Given the description of an element on the screen output the (x, y) to click on. 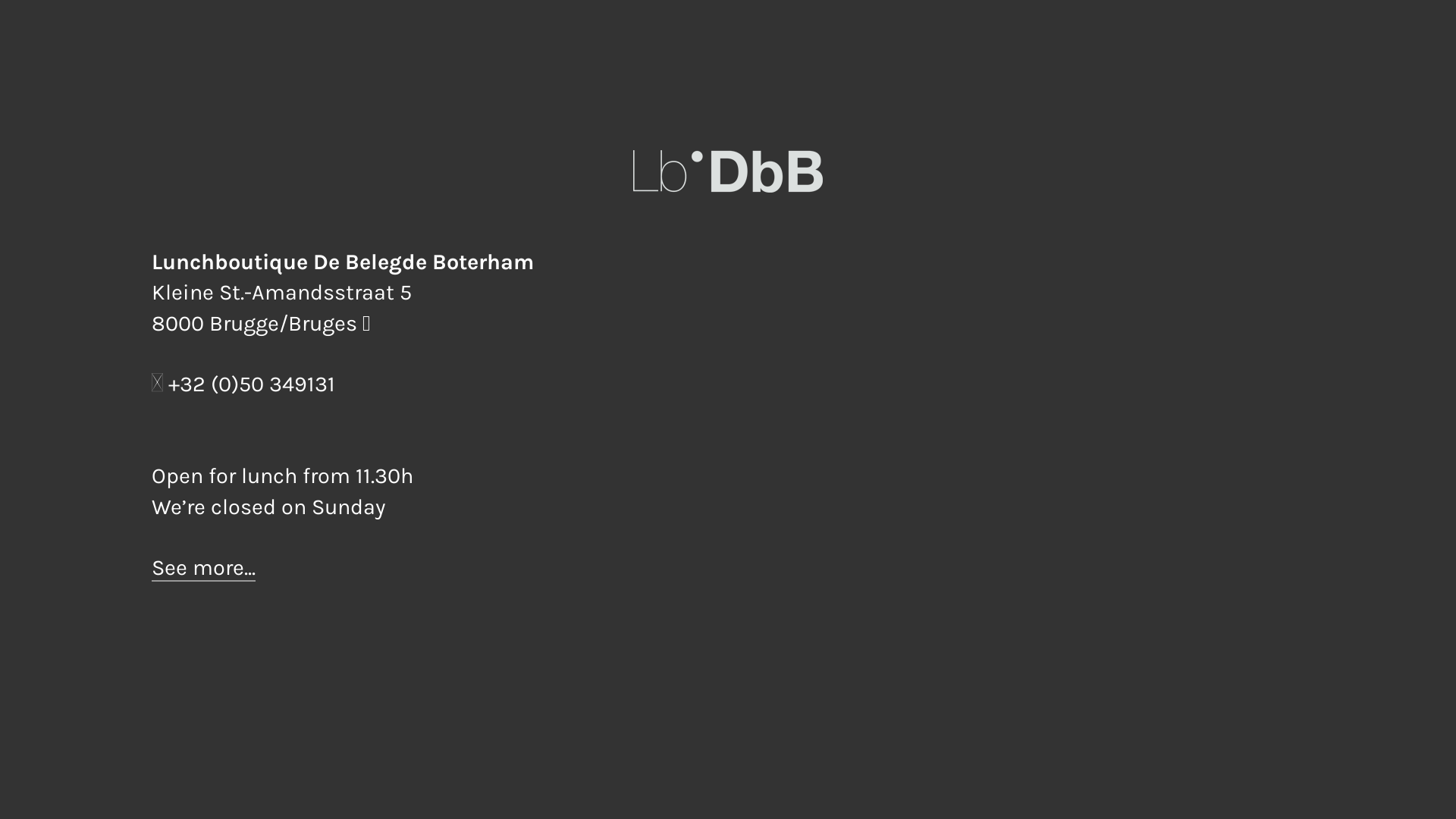
See more... Element type: text (203, 568)
